Given the description of an element on the screen output the (x, y) to click on. 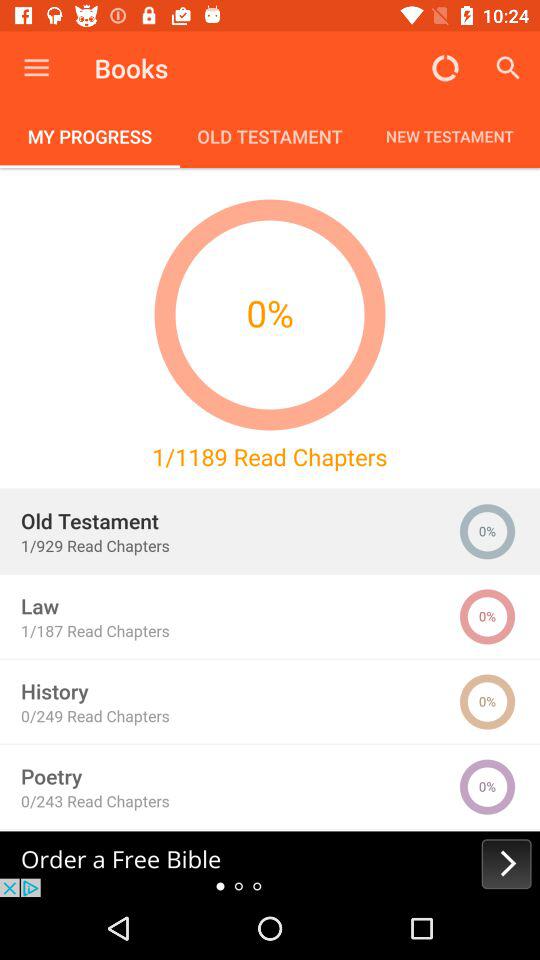
free bible advertisement (270, 864)
